Given the description of an element on the screen output the (x, y) to click on. 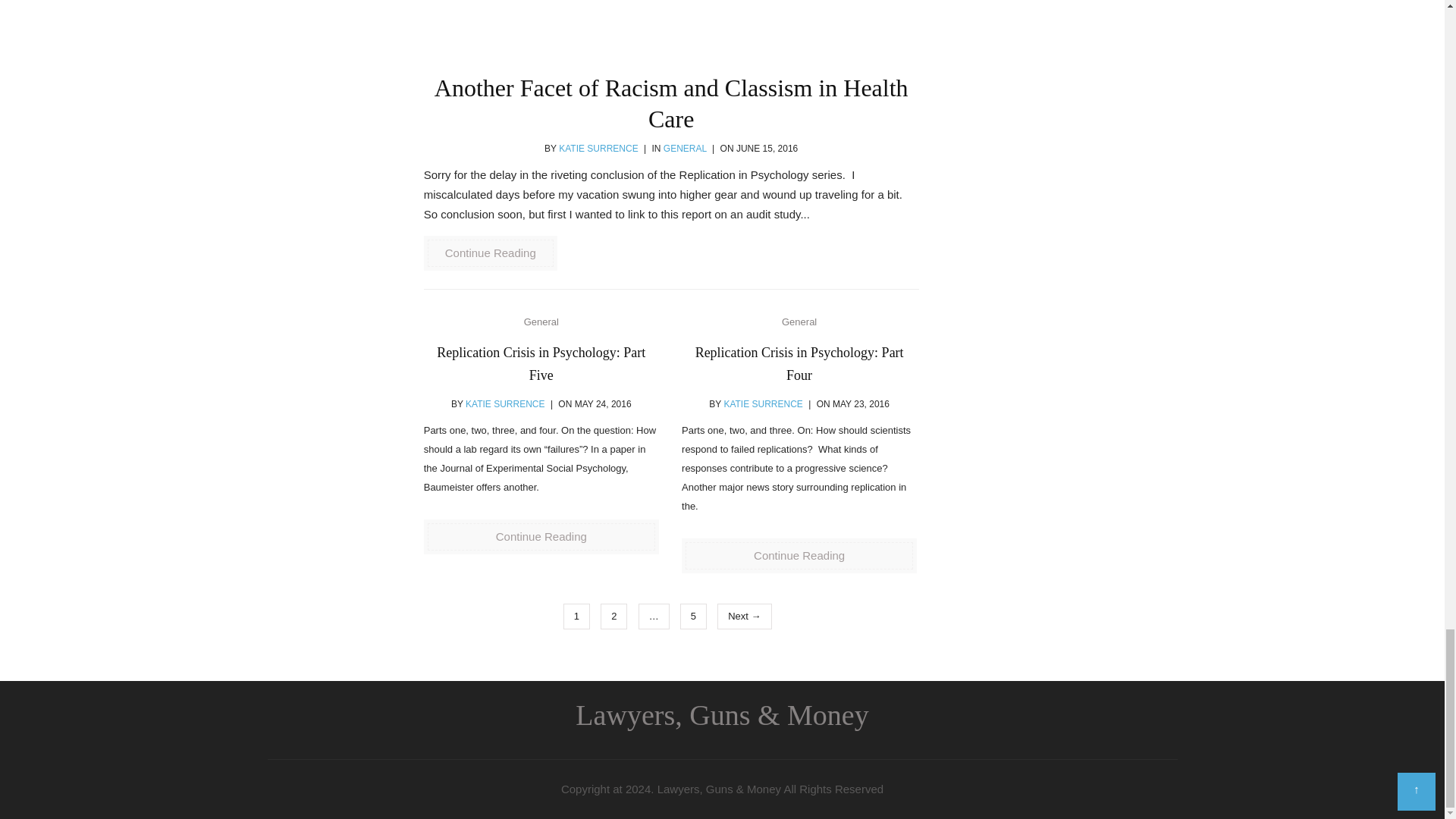
Posts by Katie Surrence (762, 403)
Posts by Katie Surrence (598, 148)
Posts by Katie Surrence (504, 403)
Another Facet of Racism and Classism in Health Care (670, 29)
